Given the description of an element on the screen output the (x, y) to click on. 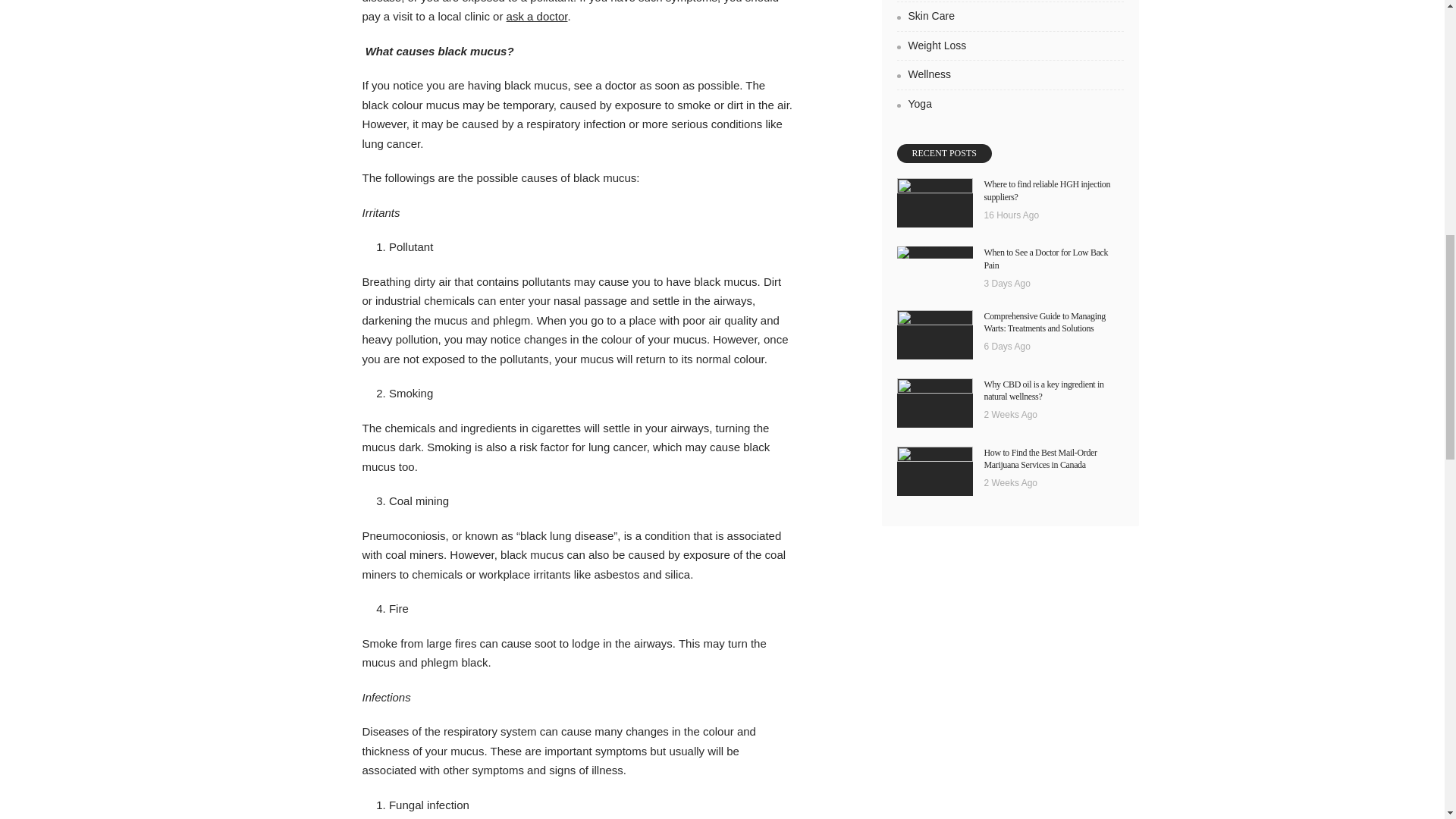
When to See a Doctor for Low Back Pain (934, 252)
Where to find reliable HGH injection suppliers? (1047, 190)
Where to find reliable HGH injection suppliers? (934, 202)
ask a doctor (536, 15)
